Given the description of an element on the screen output the (x, y) to click on. 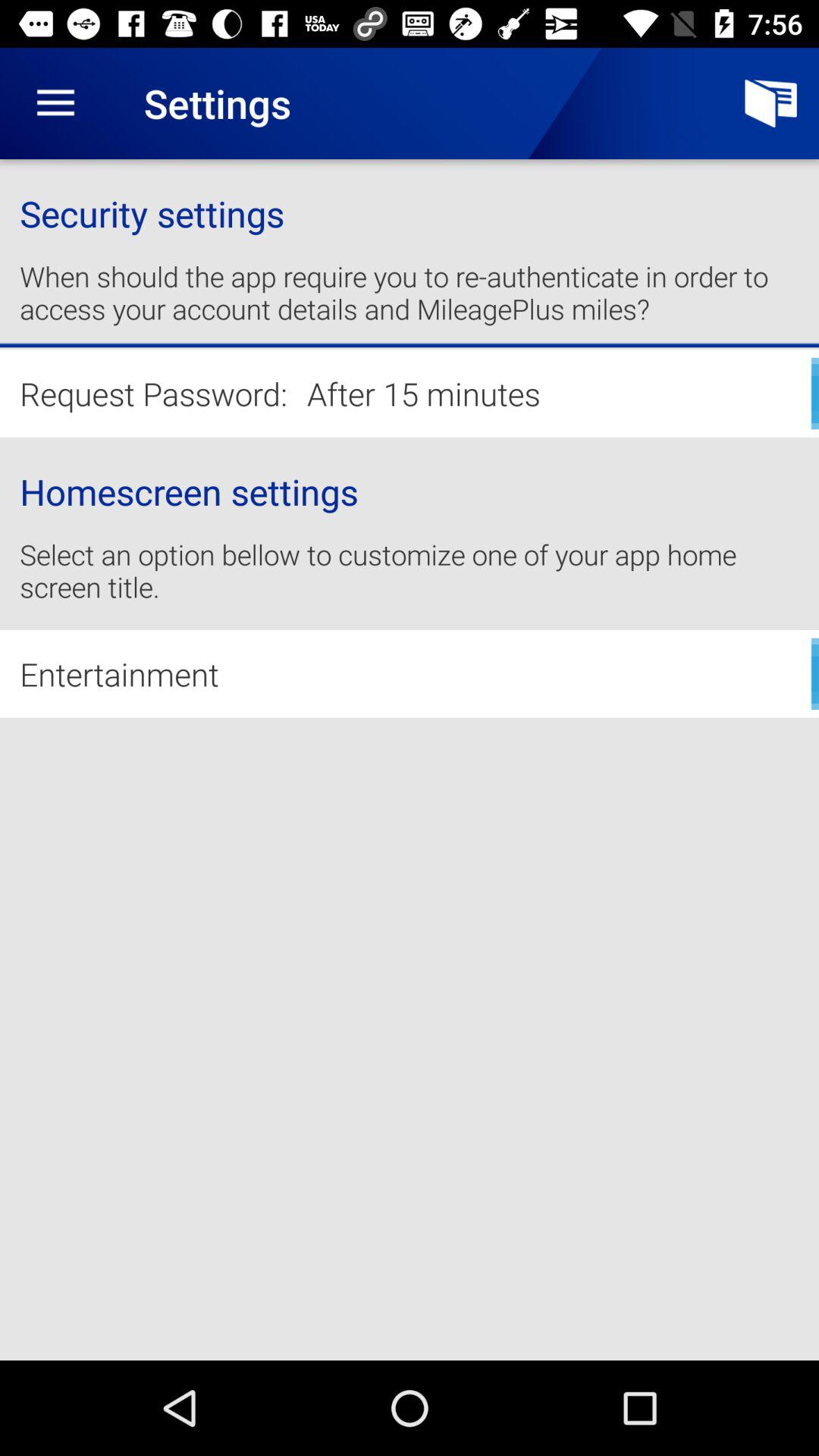
turn on the icon next to settings icon (771, 103)
